Given the description of an element on the screen output the (x, y) to click on. 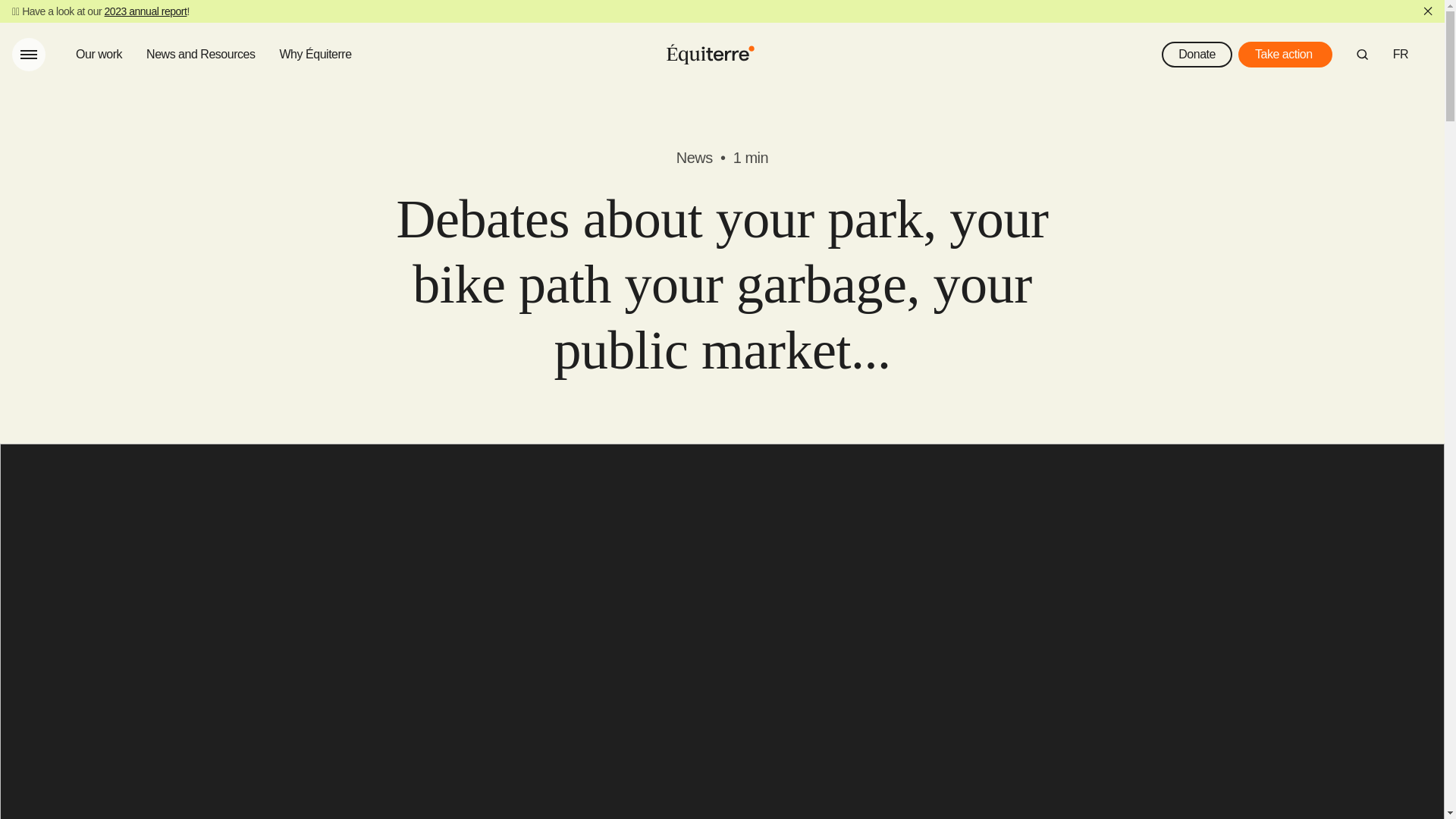
FR (1400, 54)
Our work (98, 54)
Search (1362, 54)
2023 annual report (145, 10)
News and Resources (200, 54)
Take action (1285, 54)
Donate (1196, 54)
